Given the description of an element on the screen output the (x, y) to click on. 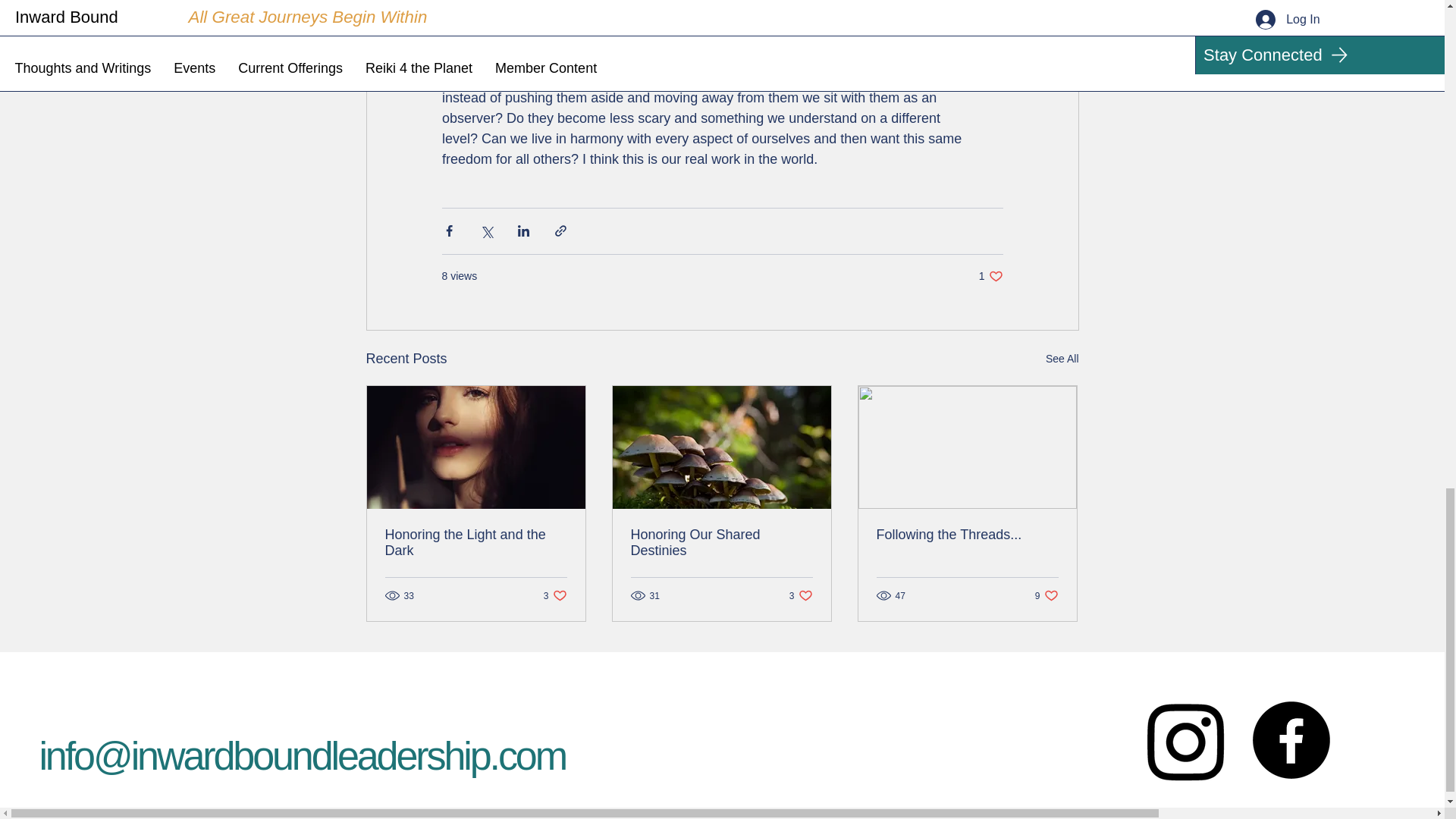
Following the Threads... (967, 534)
Honoring the Light and the Dark (990, 276)
See All (1046, 595)
Honoring Our Shared Destinies (555, 595)
